Given the description of an element on the screen output the (x, y) to click on. 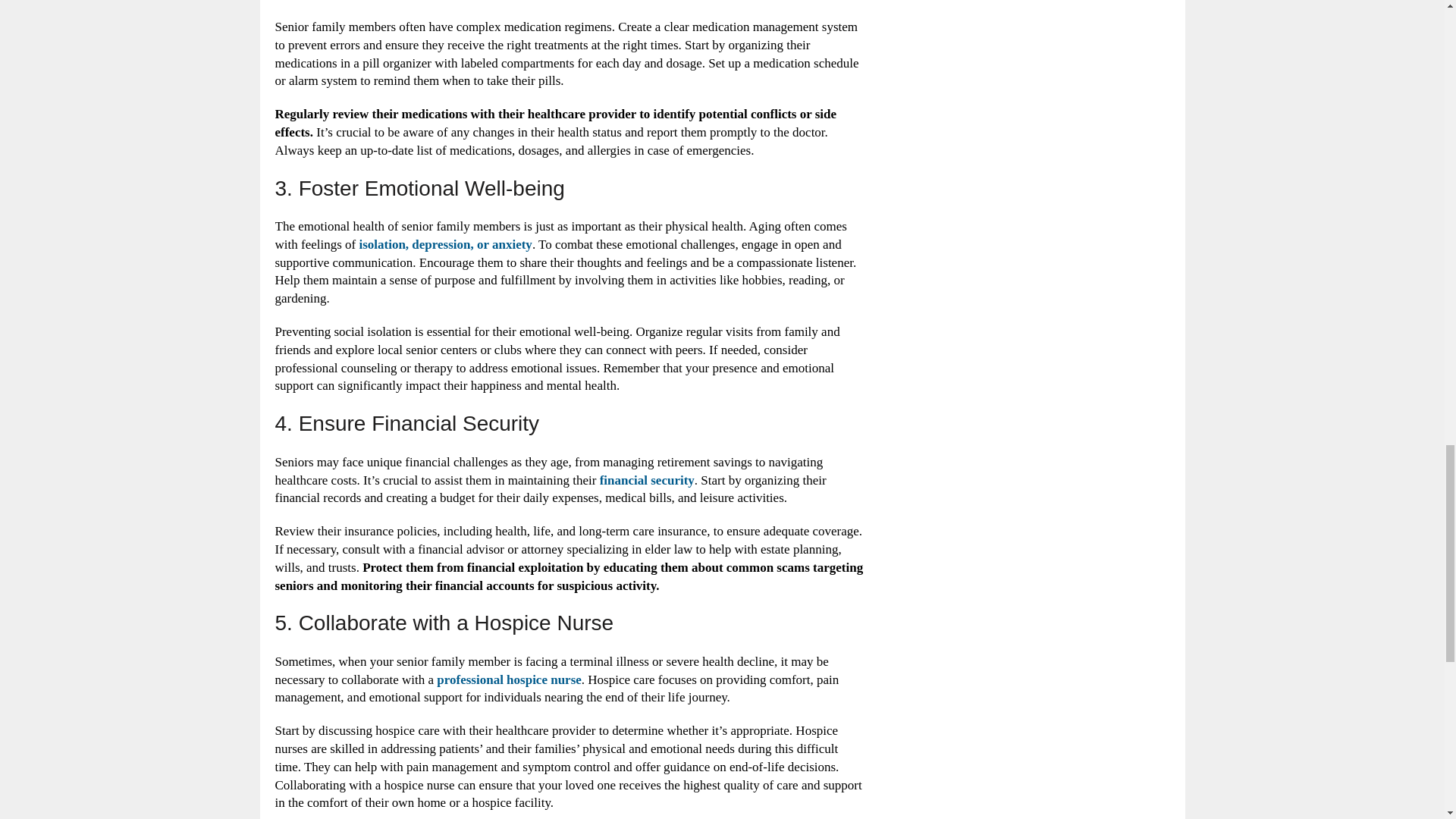
professional hospice nurse (508, 679)
financial security (646, 480)
isolation, depression, or anxiety (444, 244)
